Given the description of an element on the screen output the (x, y) to click on. 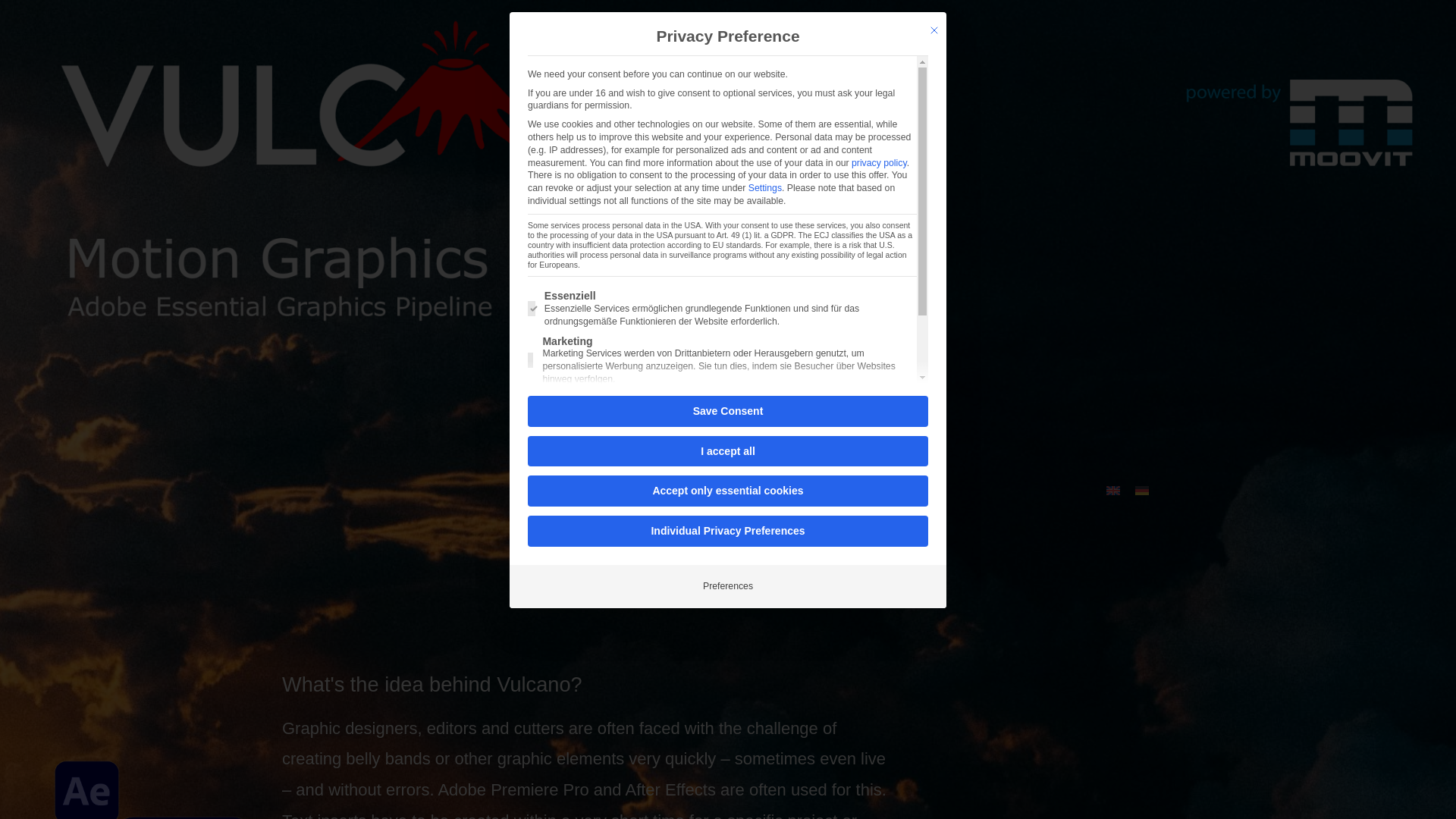
Accept only essential cookies (727, 490)
I accept all (727, 450)
Individual Privacy Preferences (727, 531)
privacy policy (879, 163)
Save Consent (727, 410)
Settings (764, 187)
Preferences (727, 586)
